Given the description of an element on the screen output the (x, y) to click on. 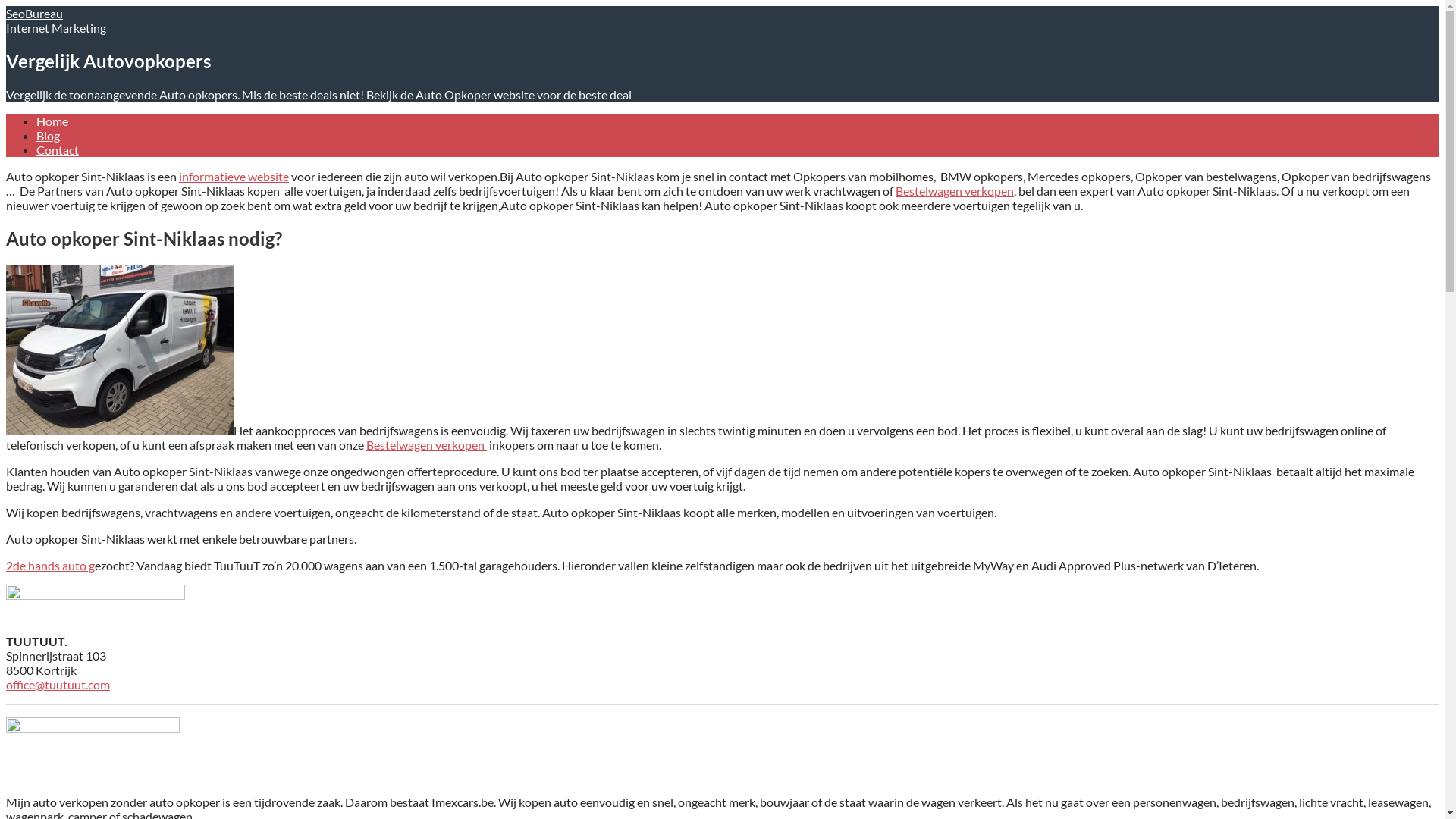
Blog Element type: text (47, 135)
Bestelwagen verkopen  Element type: text (426, 444)
Contact Element type: text (57, 149)
Ga naar de inhoud Element type: text (5, 5)
Home Element type: text (52, 120)
informatieve website Element type: text (233, 176)
2de hands auto g Element type: text (50, 565)
SeoBureau Element type: text (34, 13)
office@tuutuut.com Element type: text (57, 684)
Bestelwagen verkopen Element type: text (954, 190)
